Given the description of an element on the screen output the (x, y) to click on. 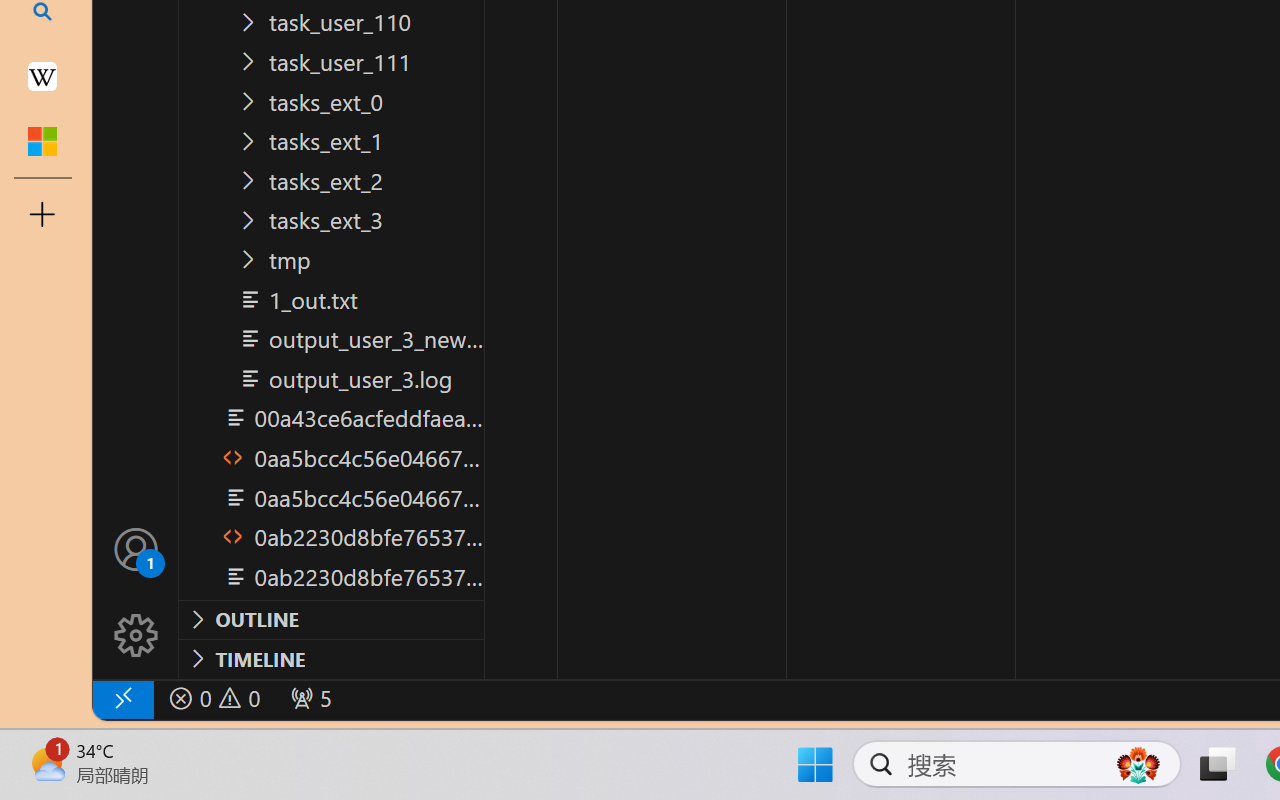
Manage (135, 635)
Timeline Section (331, 658)
No Problems (212, 698)
